Given the description of an element on the screen output the (x, y) to click on. 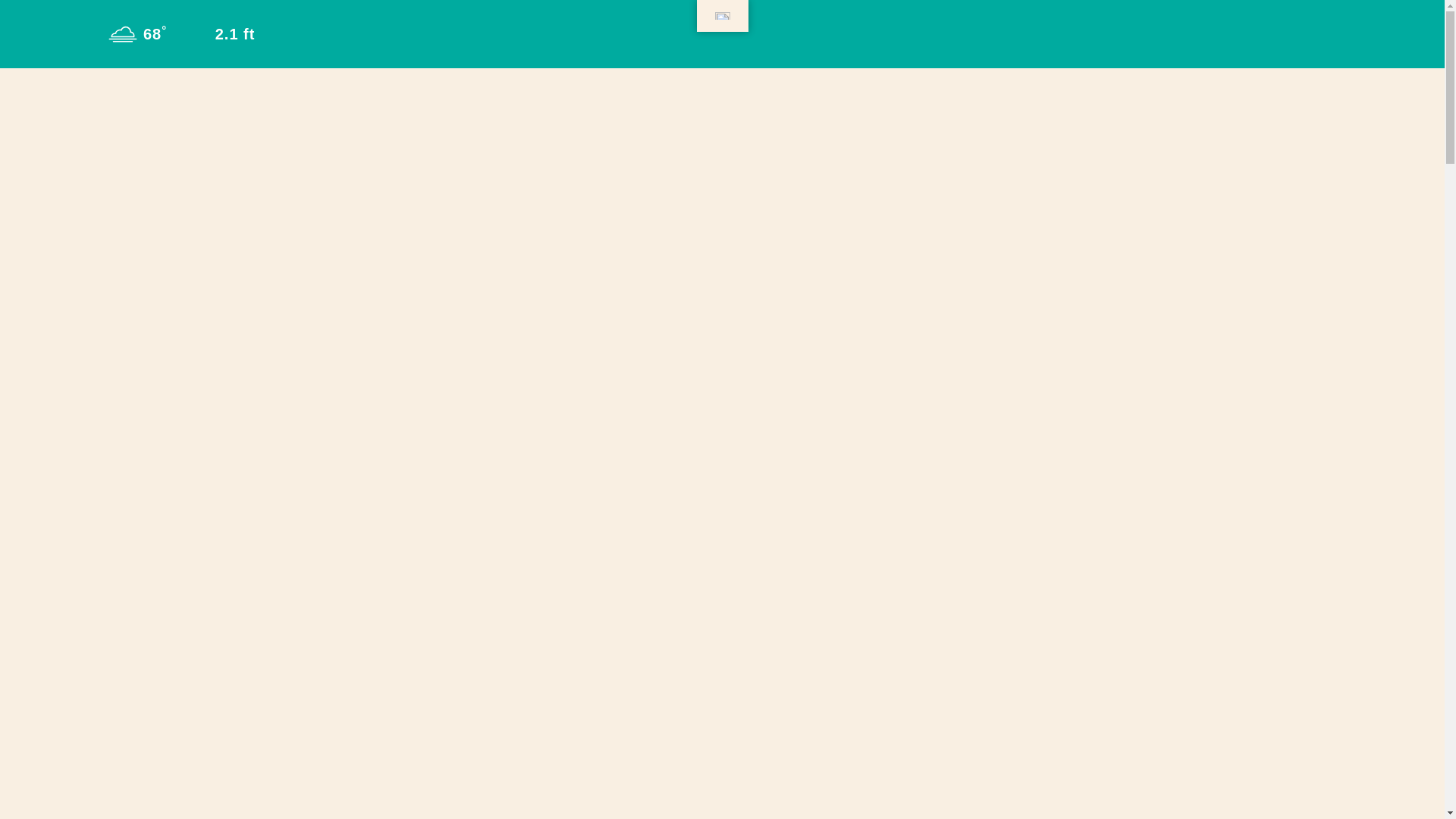
2.1 ft (218, 33)
Skip to content (17, 15)
